Given the description of an element on the screen output the (x, y) to click on. 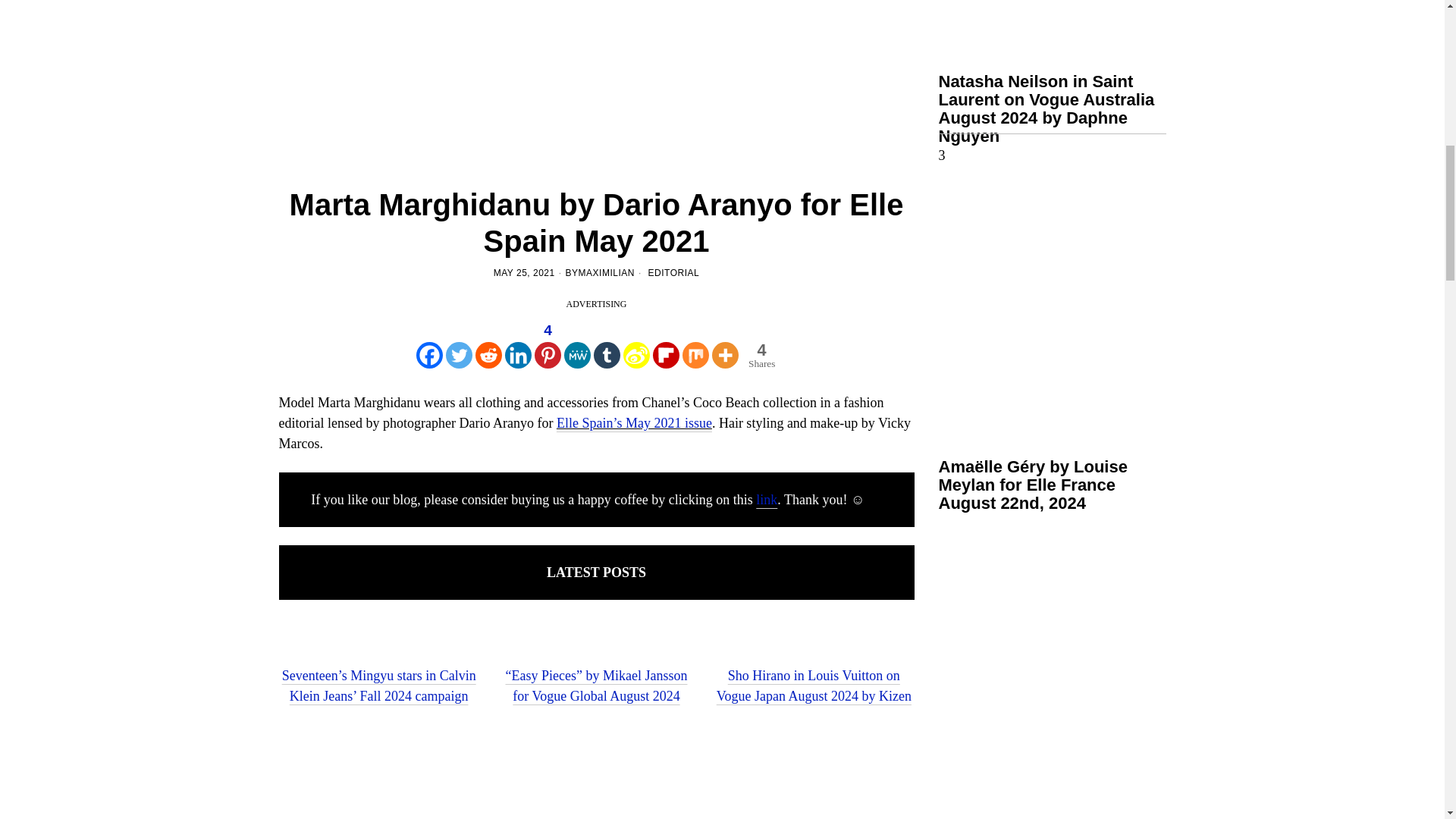
EDITORIAL (673, 272)
Marta Marghidanu by Dario Aranyo for Elle Spain May 2021 (596, 79)
25 May, 2021 07:00:15 (523, 273)
MAXIMILIAN (606, 273)
